Given the description of an element on the screen output the (x, y) to click on. 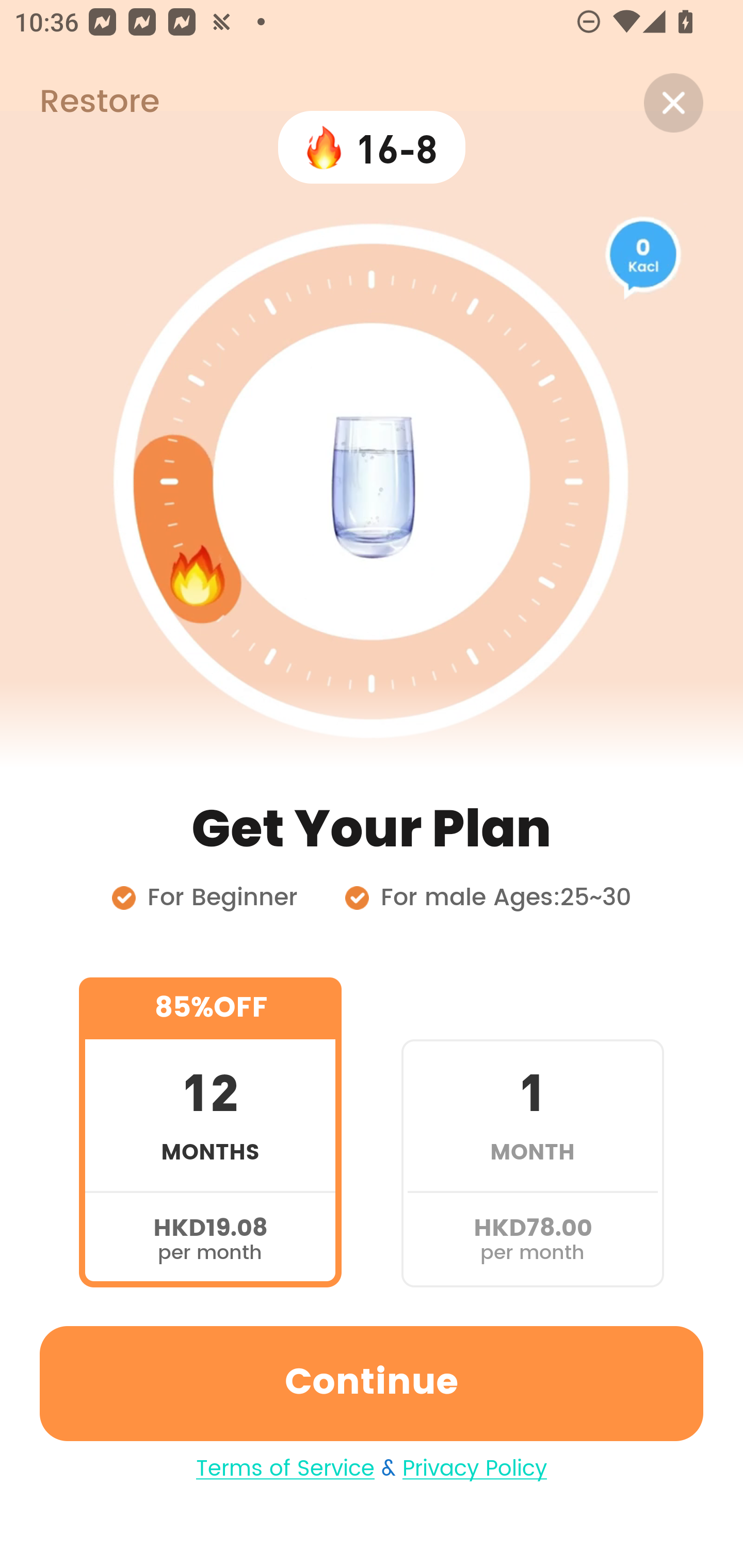
Restore (79, 102)
85%OFF 12 MONTHS per month HKD19.08 (209, 1131)
1 MONTH per month HKD78.00 (532, 1131)
Continue (371, 1383)
